Given the description of an element on the screen output the (x, y) to click on. 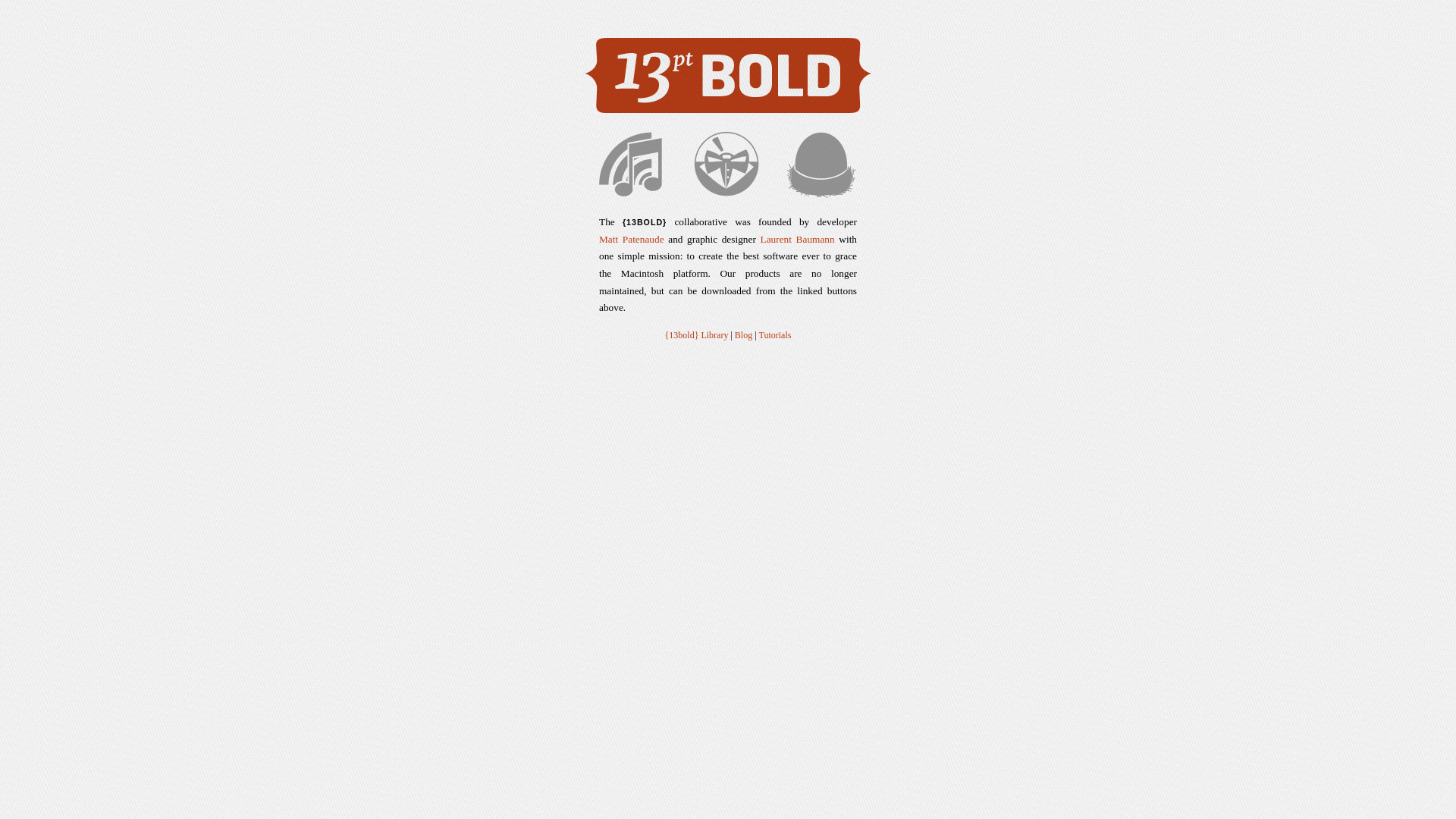
Blog Element type: text (743, 335)
Laurent Baumann Element type: text (796, 238)
Matt Patenaude Element type: text (631, 238)
Tutorials Element type: text (775, 335)
